Given the description of an element on the screen output the (x, y) to click on. 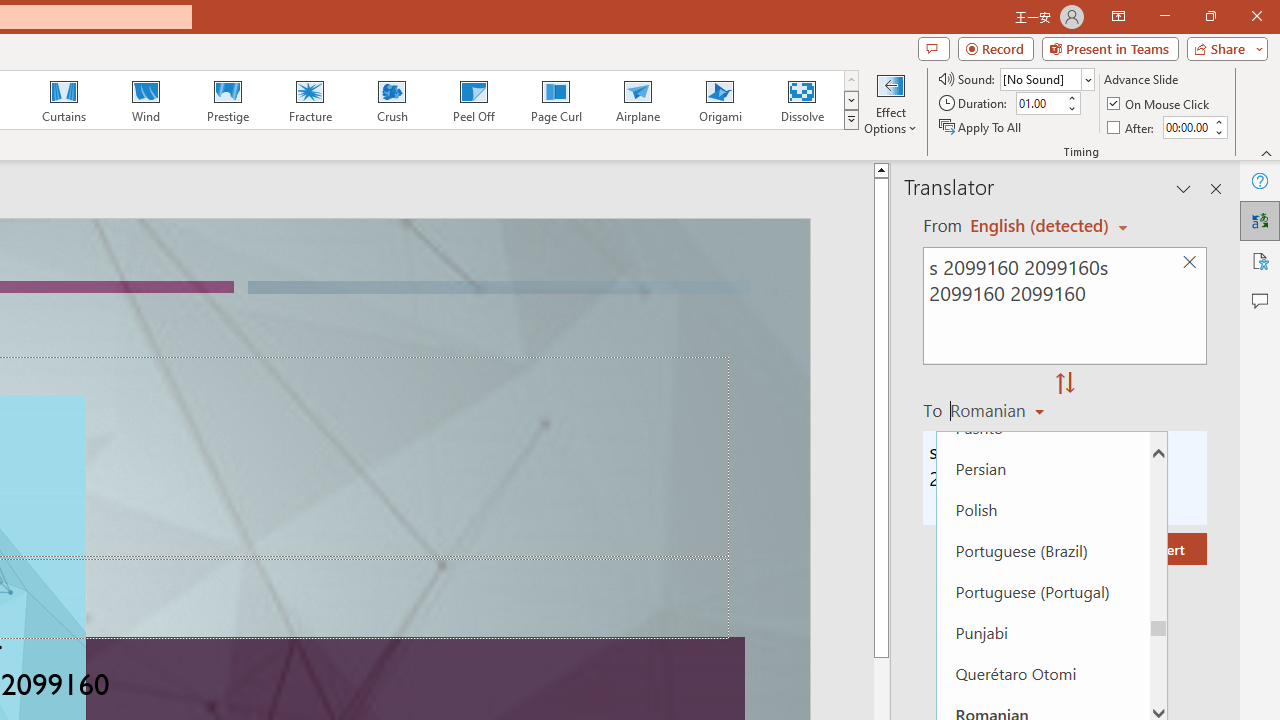
Curtains (63, 100)
